Given the description of an element on the screen output the (x, y) to click on. 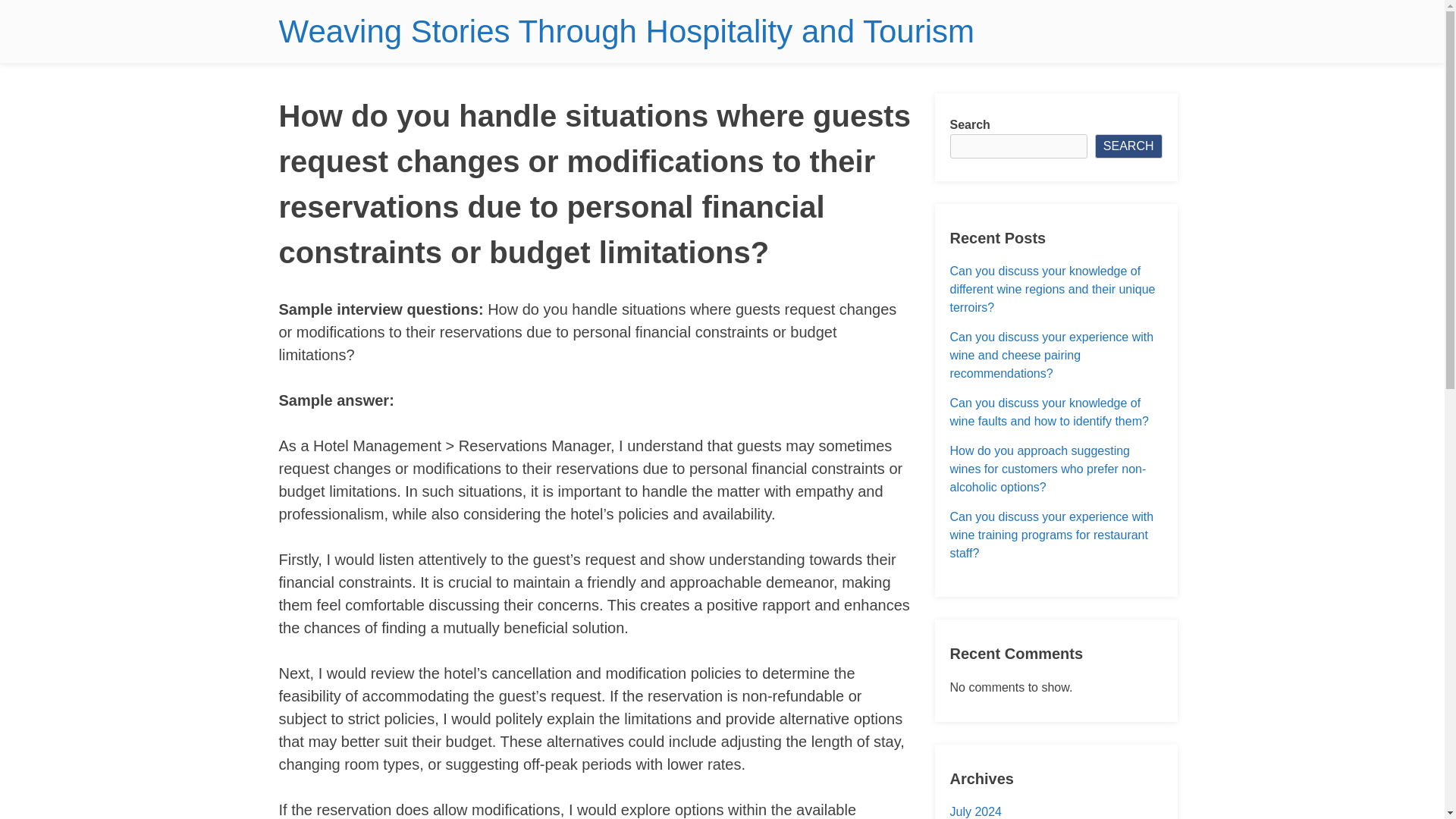
July 2024 (975, 811)
SEARCH (1127, 146)
Weaving Stories Through Hospitality and Tourism (626, 31)
